Given the description of an element on the screen output the (x, y) to click on. 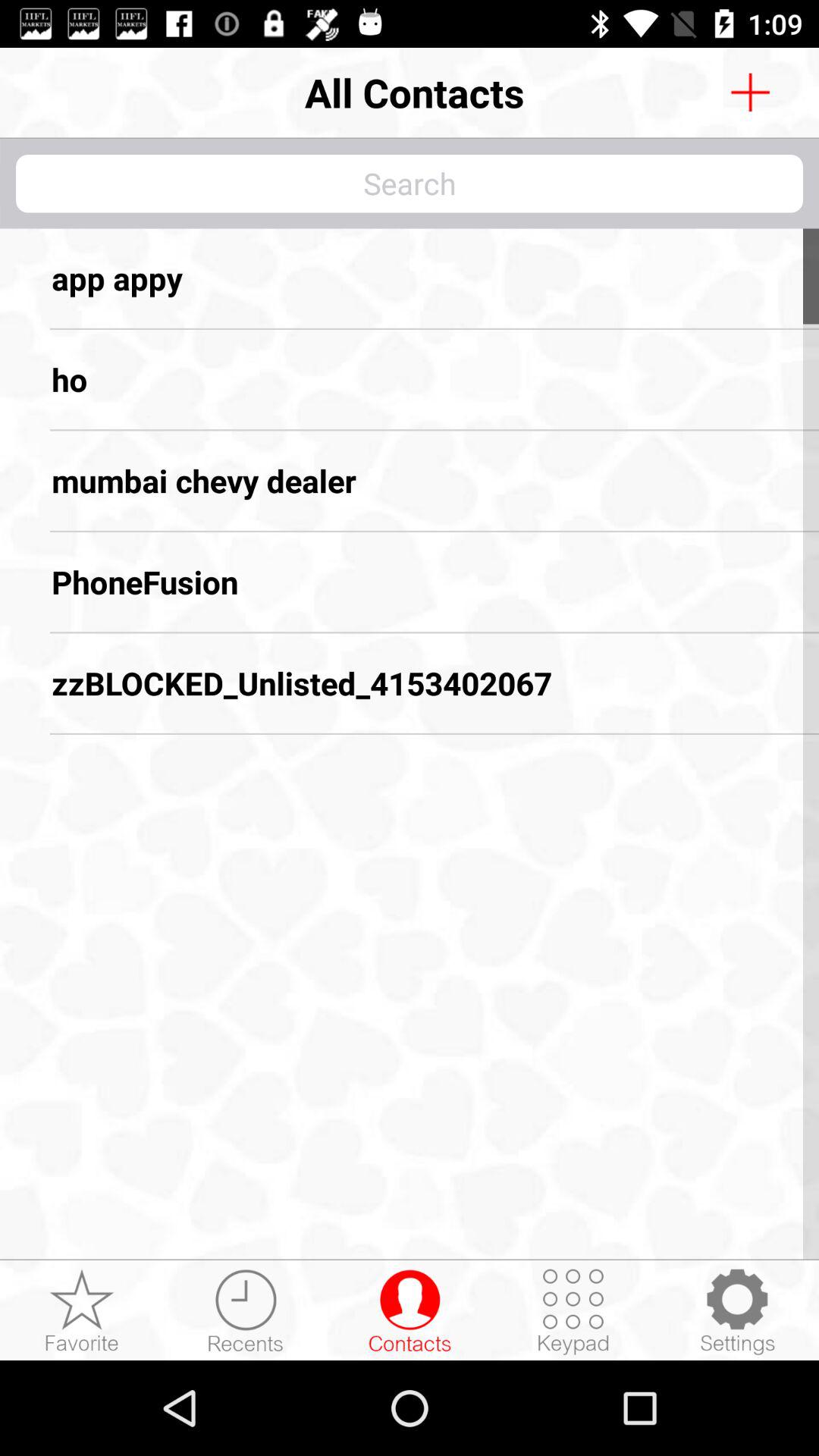
go to search (409, 183)
